Given the description of an element on the screen output the (x, y) to click on. 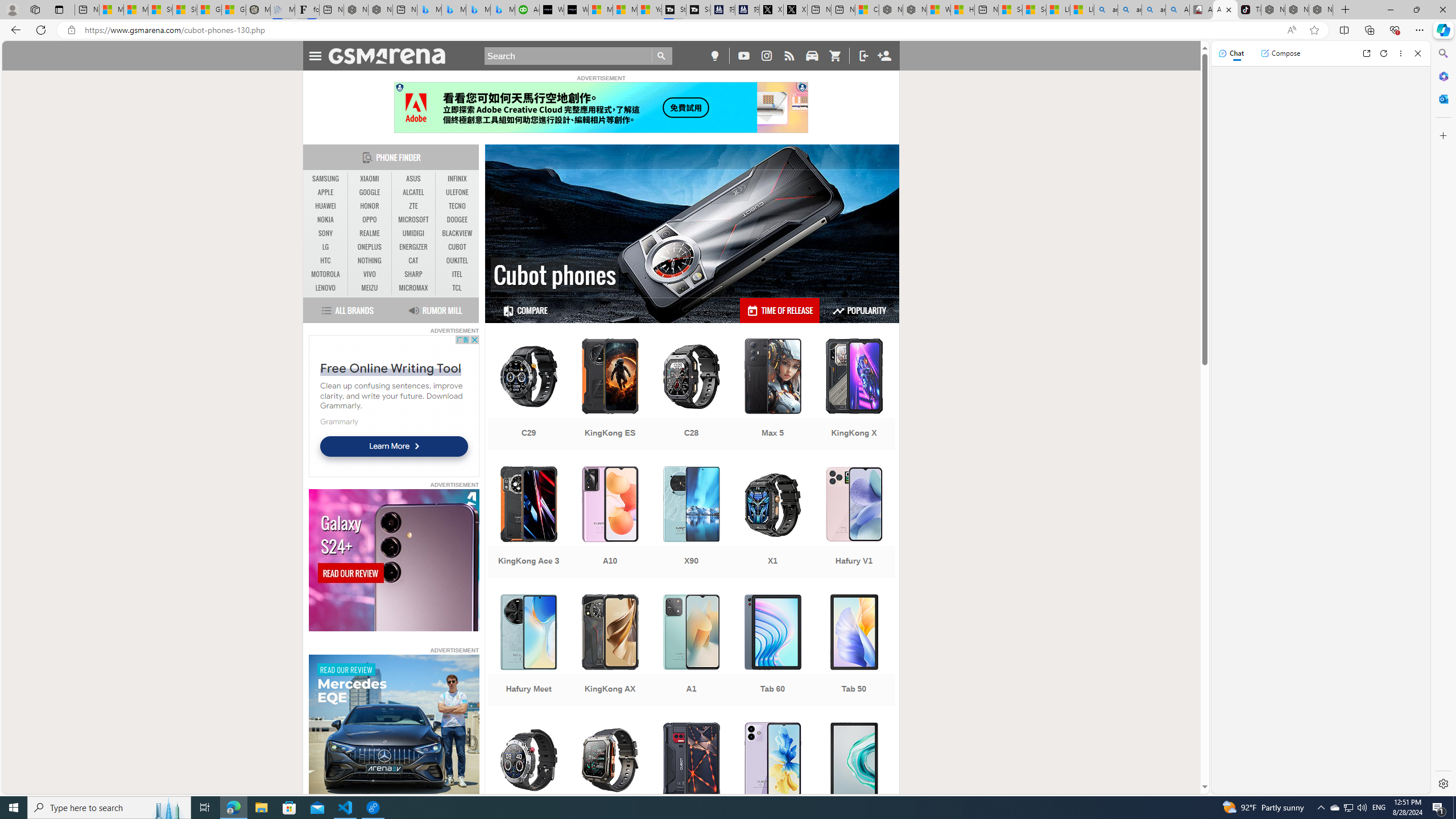
ASUS (413, 178)
Outlook (1442, 98)
Nordace - Siena Pro 15 Essential Set (1321, 9)
OUKITEL (457, 260)
GOOGLE (369, 192)
VIVO (369, 273)
